Given the description of an element on the screen output the (x, y) to click on. 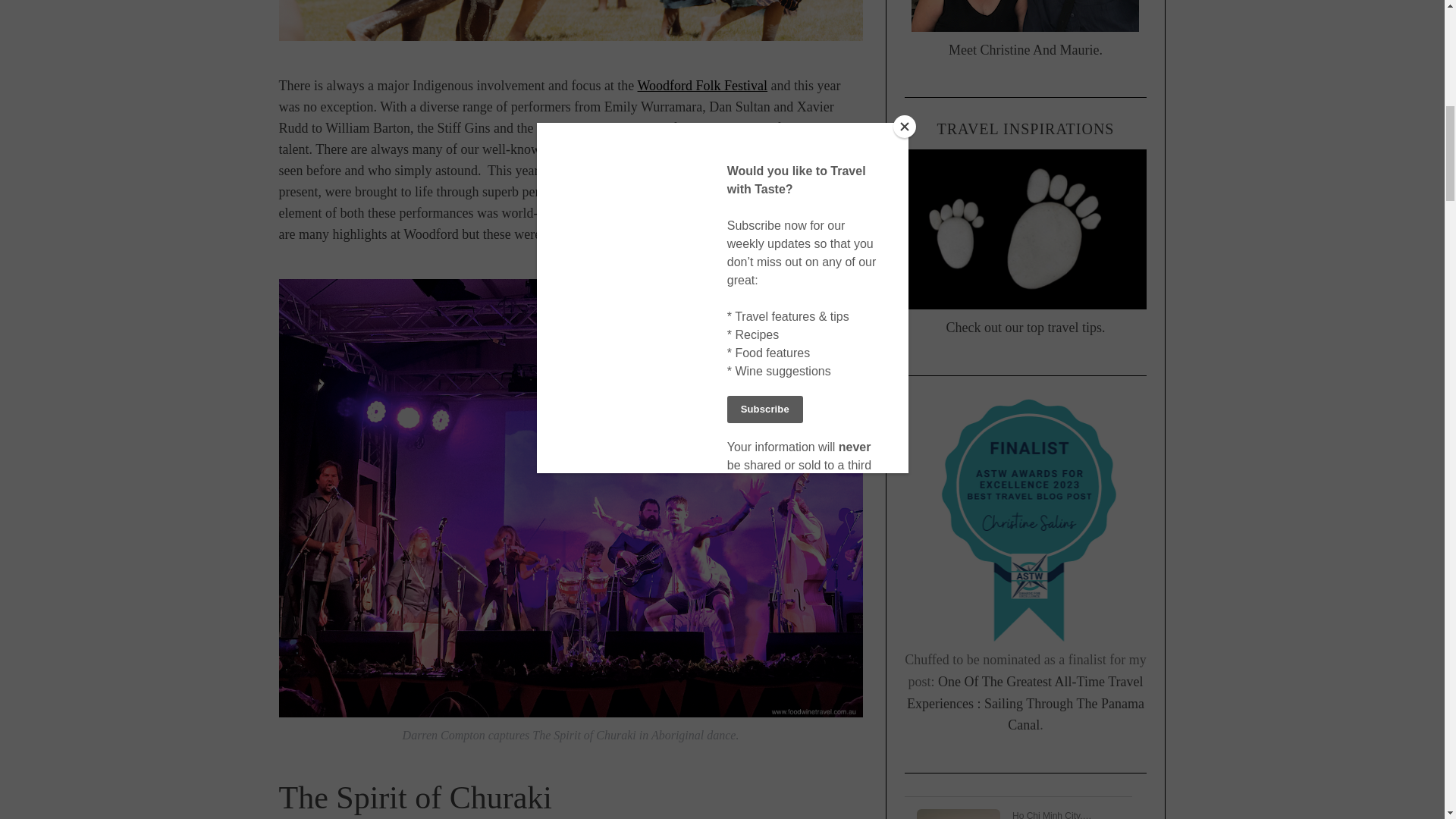
Woodford Folk Festival (702, 85)
